Given the description of an element on the screen output the (x, y) to click on. 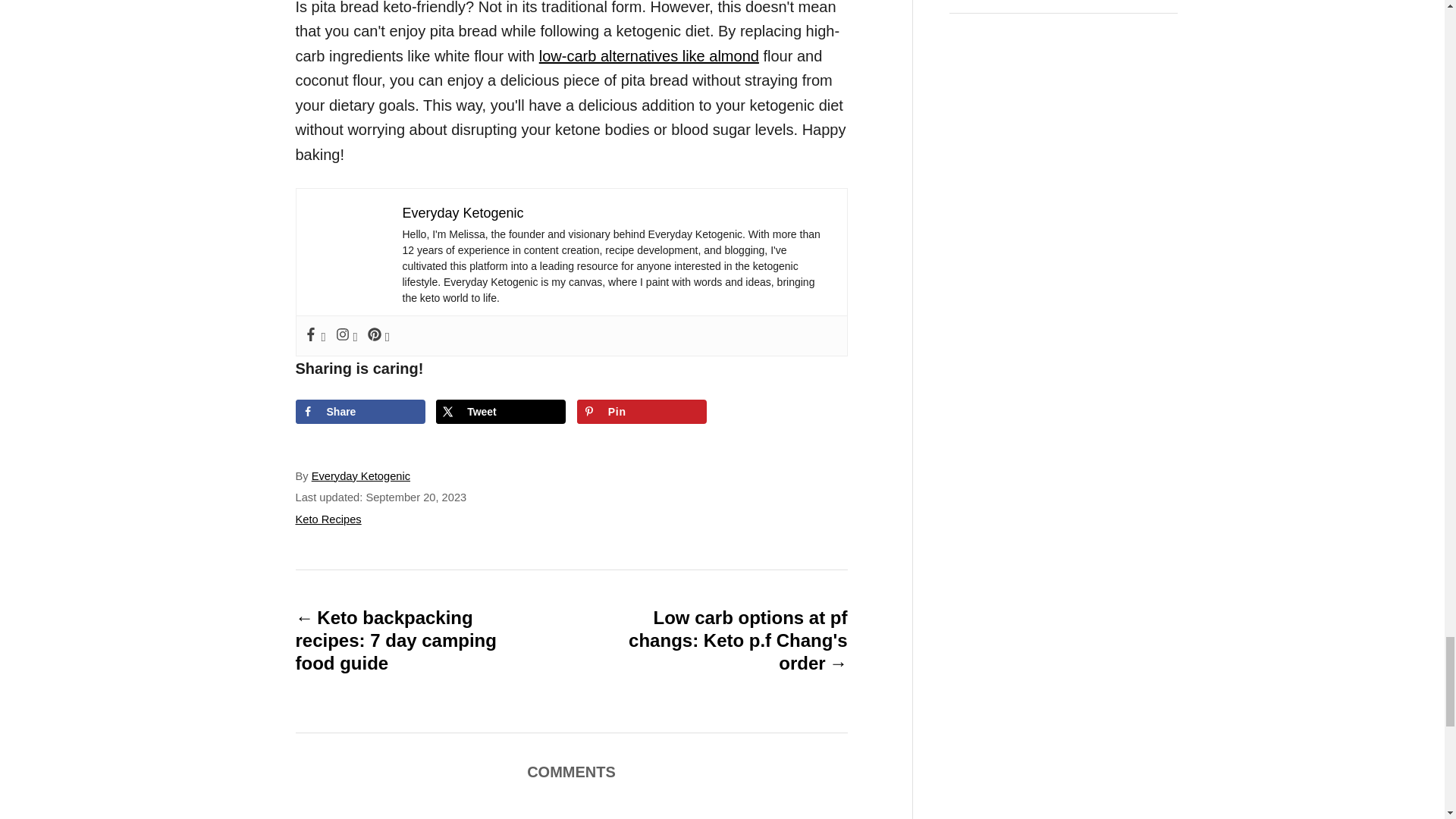
Everyday Ketogenic (461, 212)
Share on Facebook (360, 410)
Pinterest (379, 335)
Save to Pinterest (641, 410)
low-carb alternatives like almond (648, 55)
Facebook (314, 335)
Share on X (500, 410)
Share (360, 410)
Instagram (347, 335)
